Given the description of an element on the screen output the (x, y) to click on. 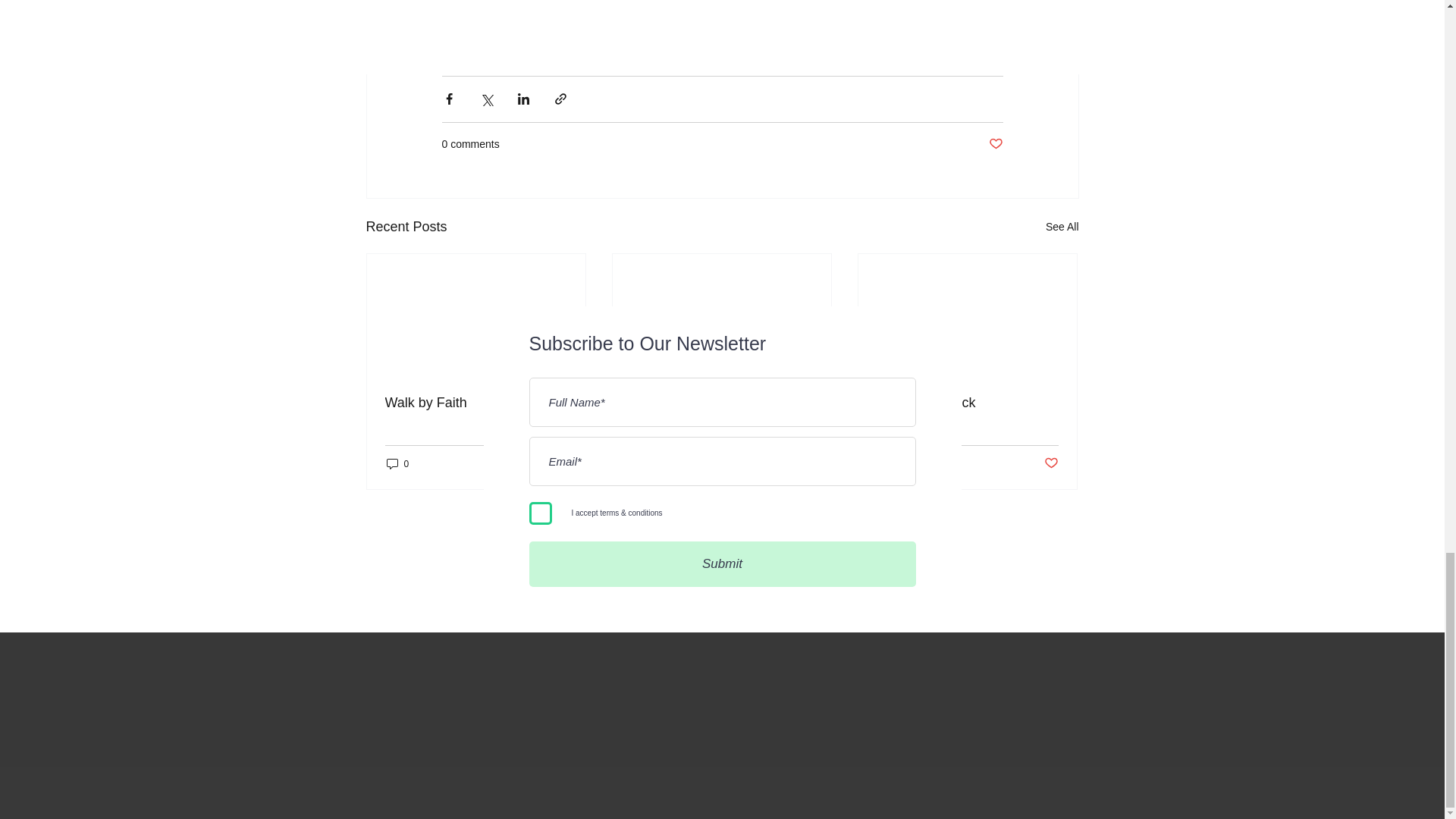
Post not marked as liked (1050, 463)
Walk by Faith (476, 402)
Advocate Helper (721, 402)
Submit (722, 564)
See All (1061, 227)
Ask Seek Knock (967, 402)
Post not marked as liked (558, 463)
0 (397, 463)
Post not marked as liked (804, 463)
0 (889, 463)
Post not marked as liked (995, 144)
0 (643, 463)
